Given the description of an element on the screen output the (x, y) to click on. 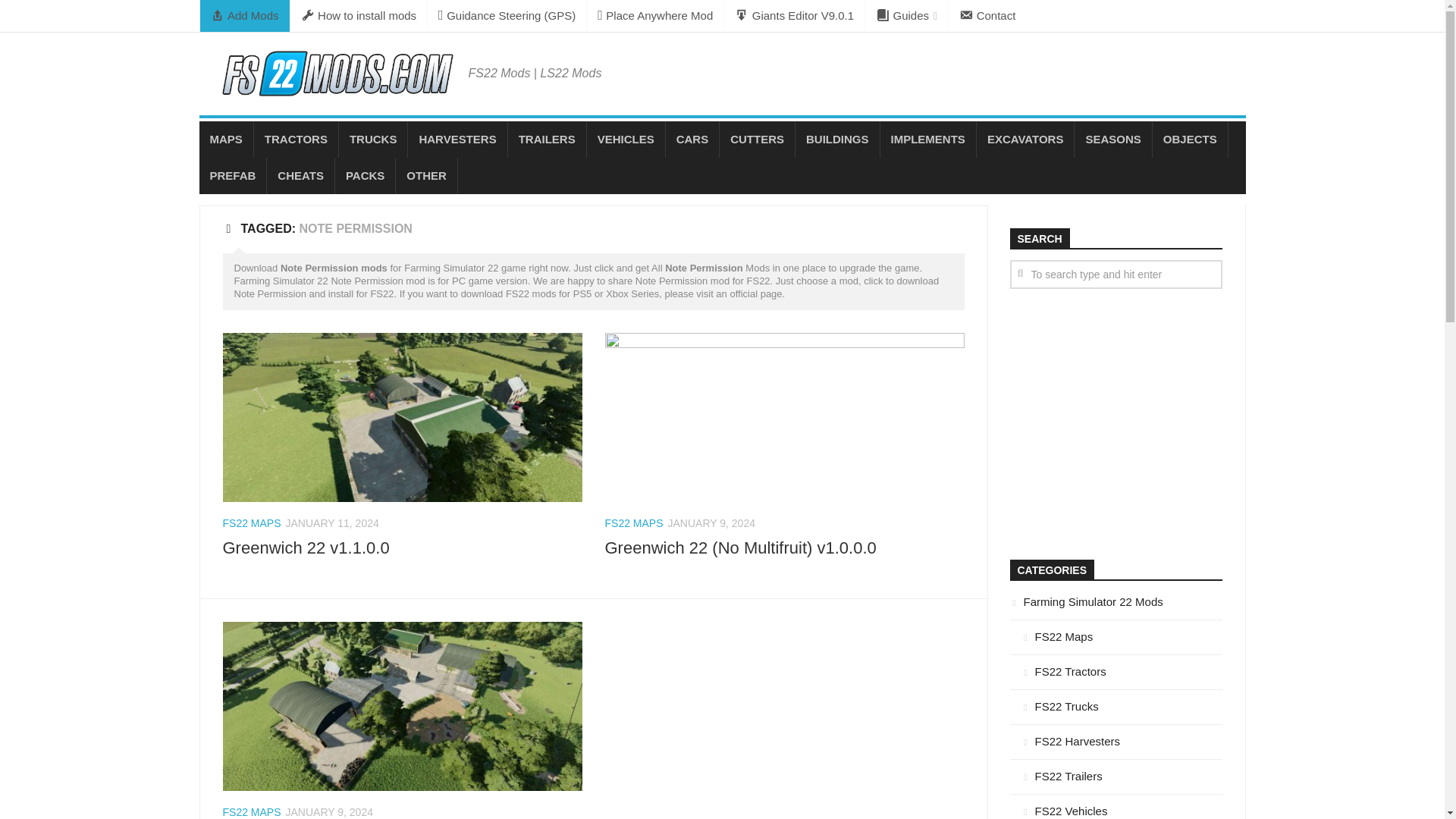
CARS (692, 139)
How to install mods (358, 15)
TRAILERS (547, 139)
Place Anywhere Mod (654, 15)
EXCAVATORS (1025, 139)
Greenwich 22 v1.1.0.0 (306, 547)
OTHER (426, 176)
CUTTERS (756, 139)
MAPS (224, 139)
Add Mods (244, 15)
